Given the description of an element on the screen output the (x, y) to click on. 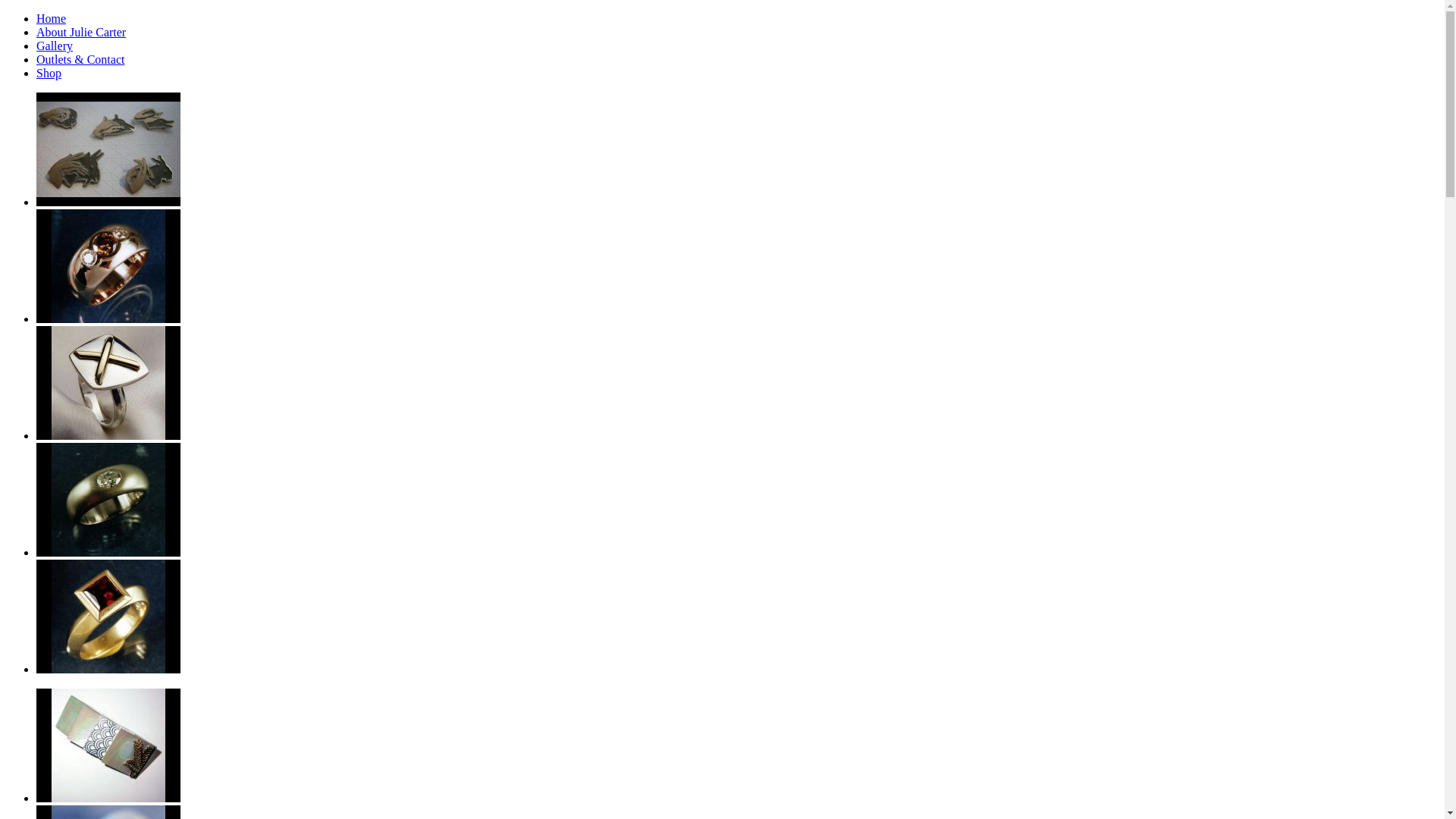
Home Element type: text (50, 18)
Gallery Element type: text (54, 45)
About Julie Carter Element type: text (80, 31)
Shop Element type: text (48, 72)
Outlets & Contact Element type: text (80, 59)
